Given the description of an element on the screen output the (x, y) to click on. 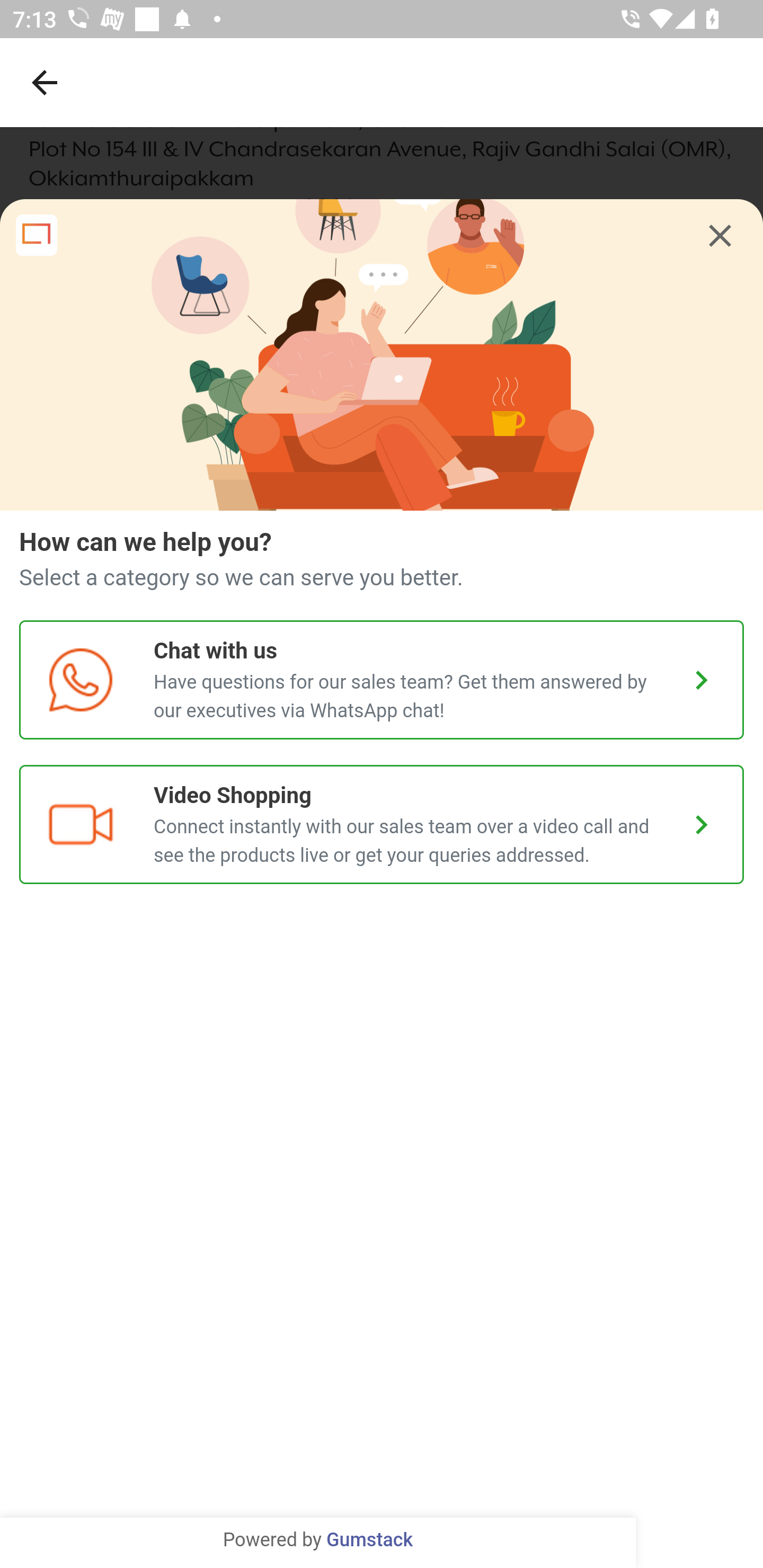
Navigate up (44, 82)
clear (720, 235)
SEE IN MAPS (381, 1530)
Gumstack (369, 1540)
